Given the description of an element on the screen output the (x, y) to click on. 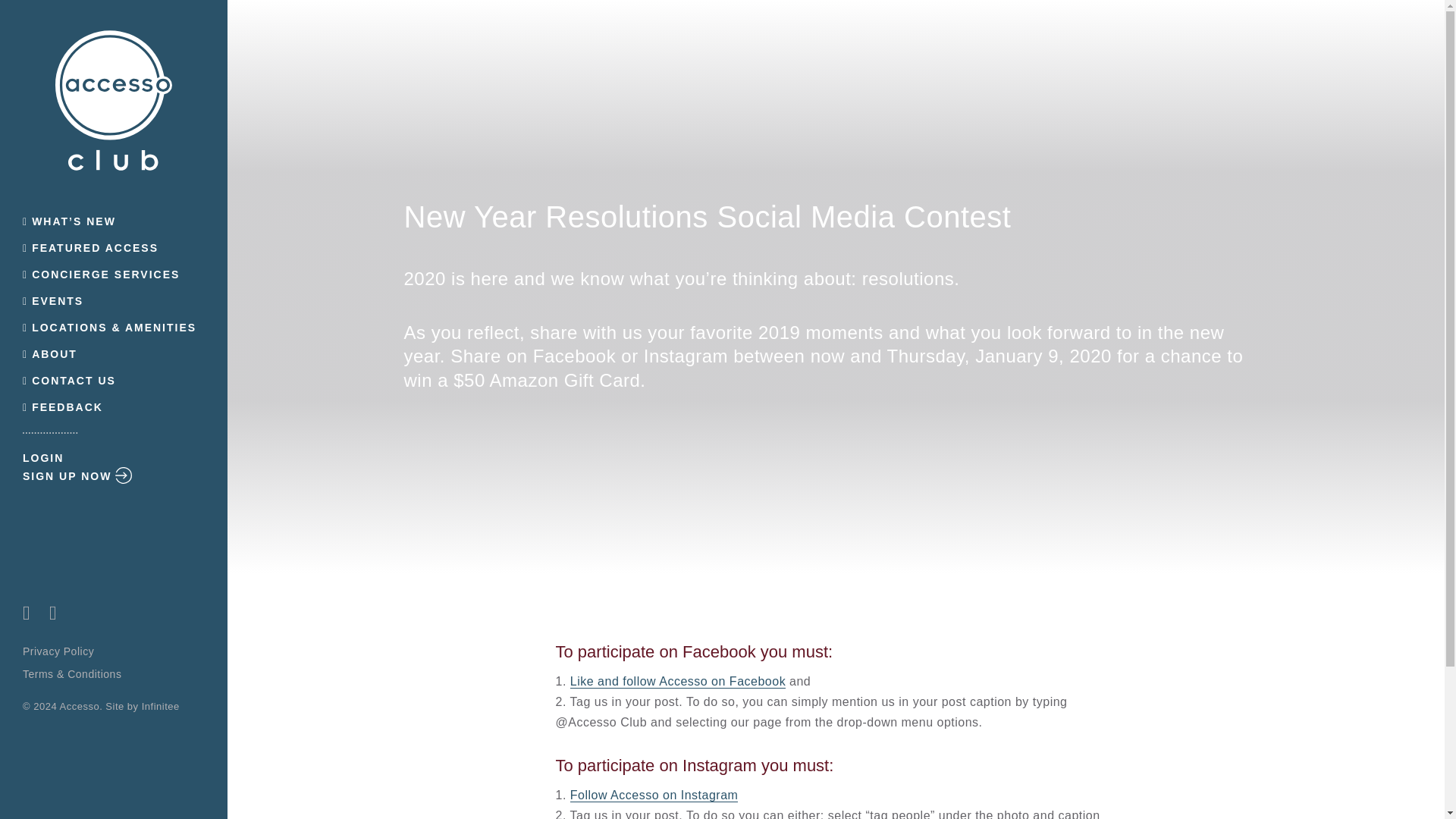
LOGIN (114, 457)
CONTACT US (114, 380)
Accesso Club (114, 100)
CONCIERGE SERVICES (114, 274)
Strategic Marketing and Advertising Agency (141, 706)
Like and follow Accesso on Facebook (678, 681)
Site by Infinitee (141, 706)
Follow Accesso on Instagram (654, 795)
Privacy Policy (58, 651)
